Given the description of an element on the screen output the (x, y) to click on. 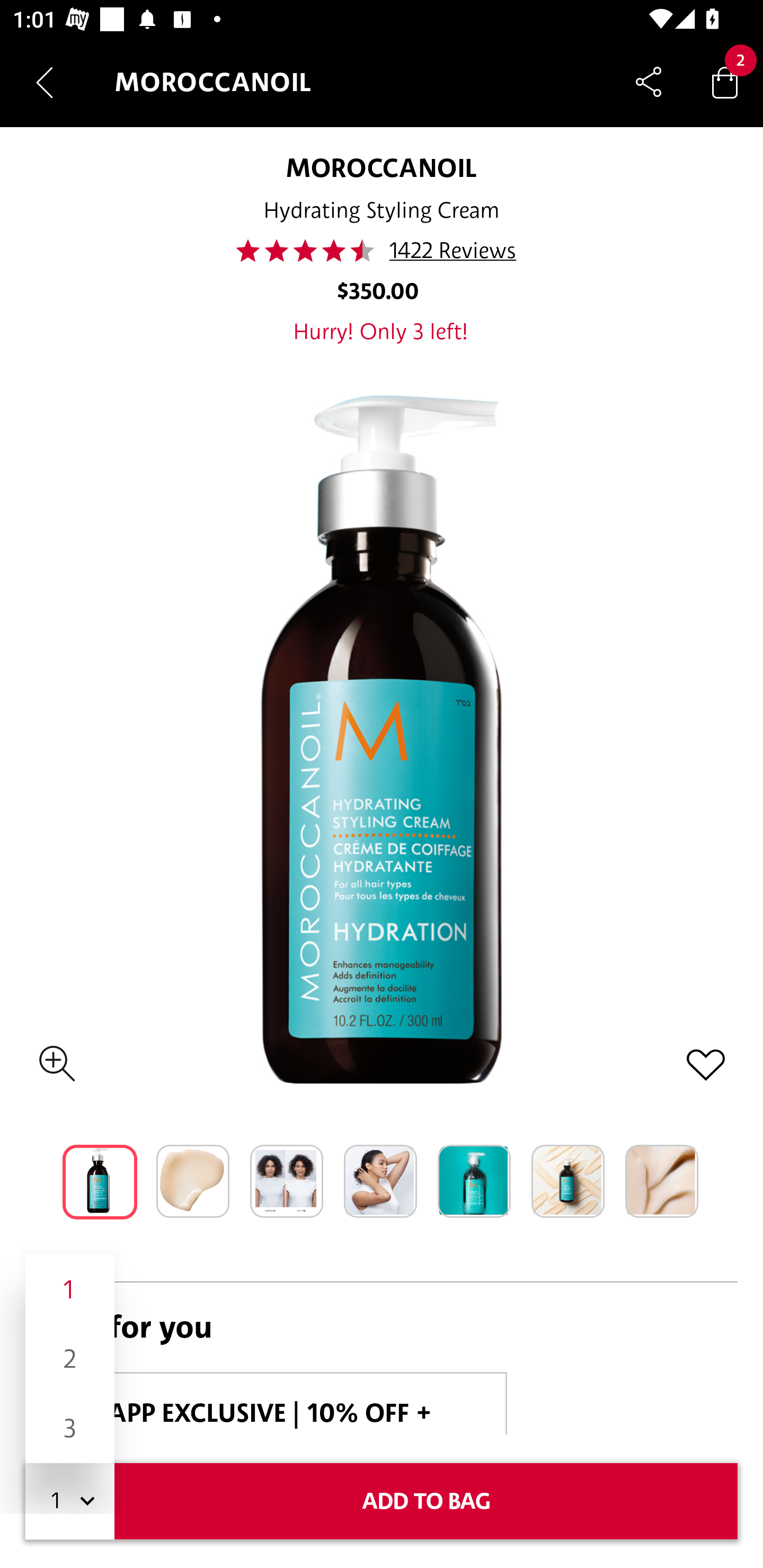
1 (69, 1289)
2 (69, 1358)
3 (69, 1427)
